Given the description of an element on the screen output the (x, y) to click on. 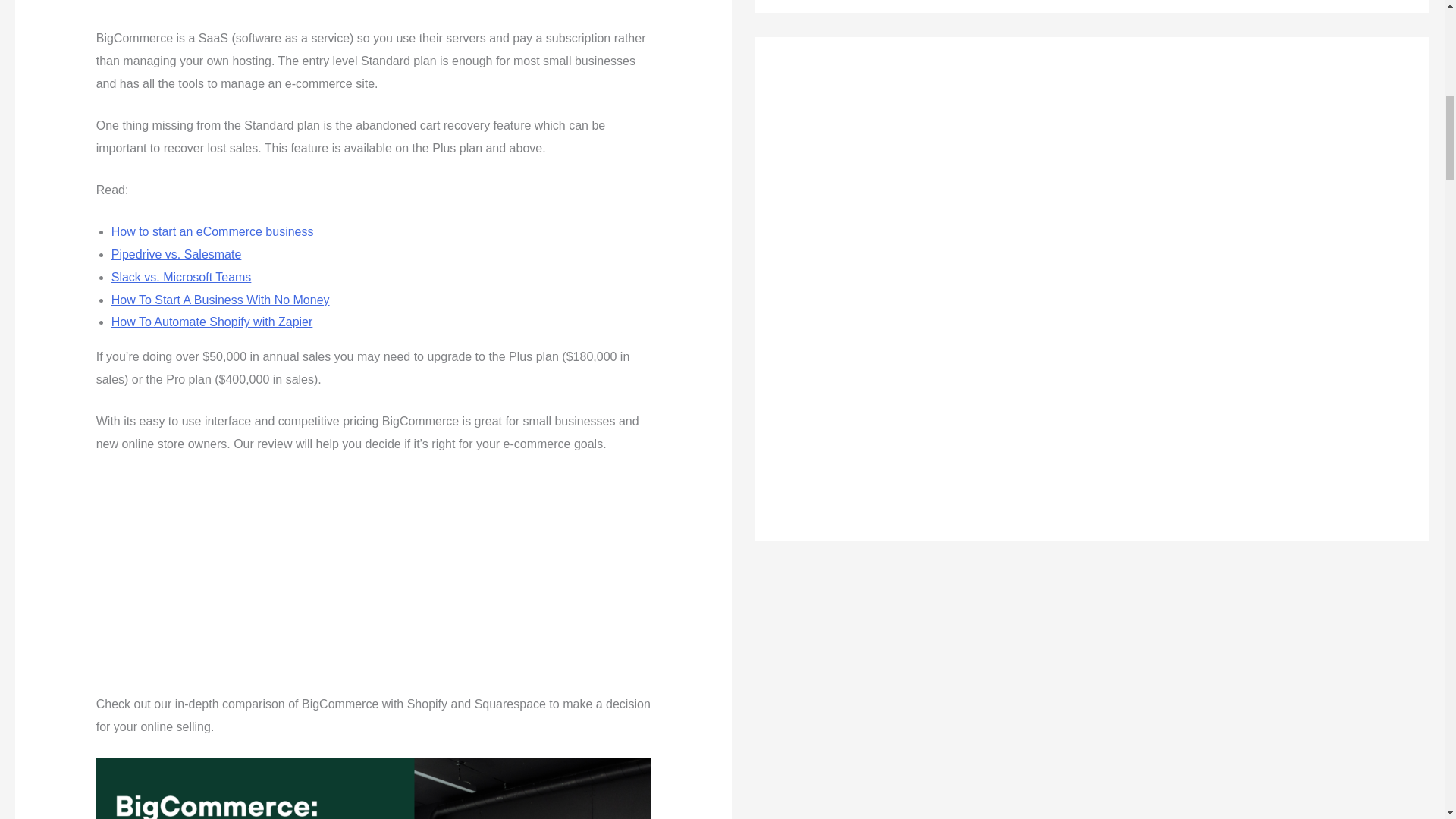
Pipedrive vs. Salesmate (176, 254)
Slack vs. Microsoft Teams (181, 277)
How to start an eCommerce business (213, 231)
How To Automate Shopify with Zapier (212, 321)
How To Start A Business With No Money (221, 299)
